Given the description of an element on the screen output the (x, y) to click on. 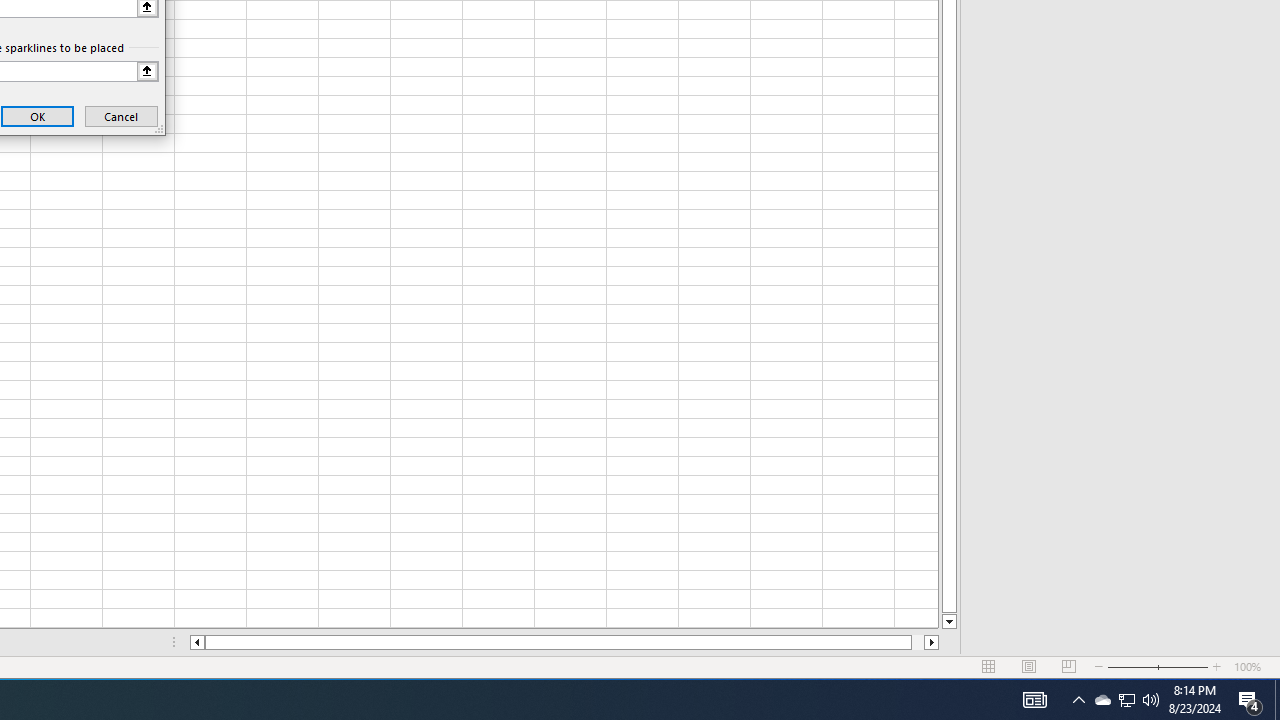
Zoom (1158, 667)
Action Center, 4 new notifications (1126, 699)
Zoom Out (1102, 699)
Page right (1250, 699)
